Given the description of an element on the screen output the (x, y) to click on. 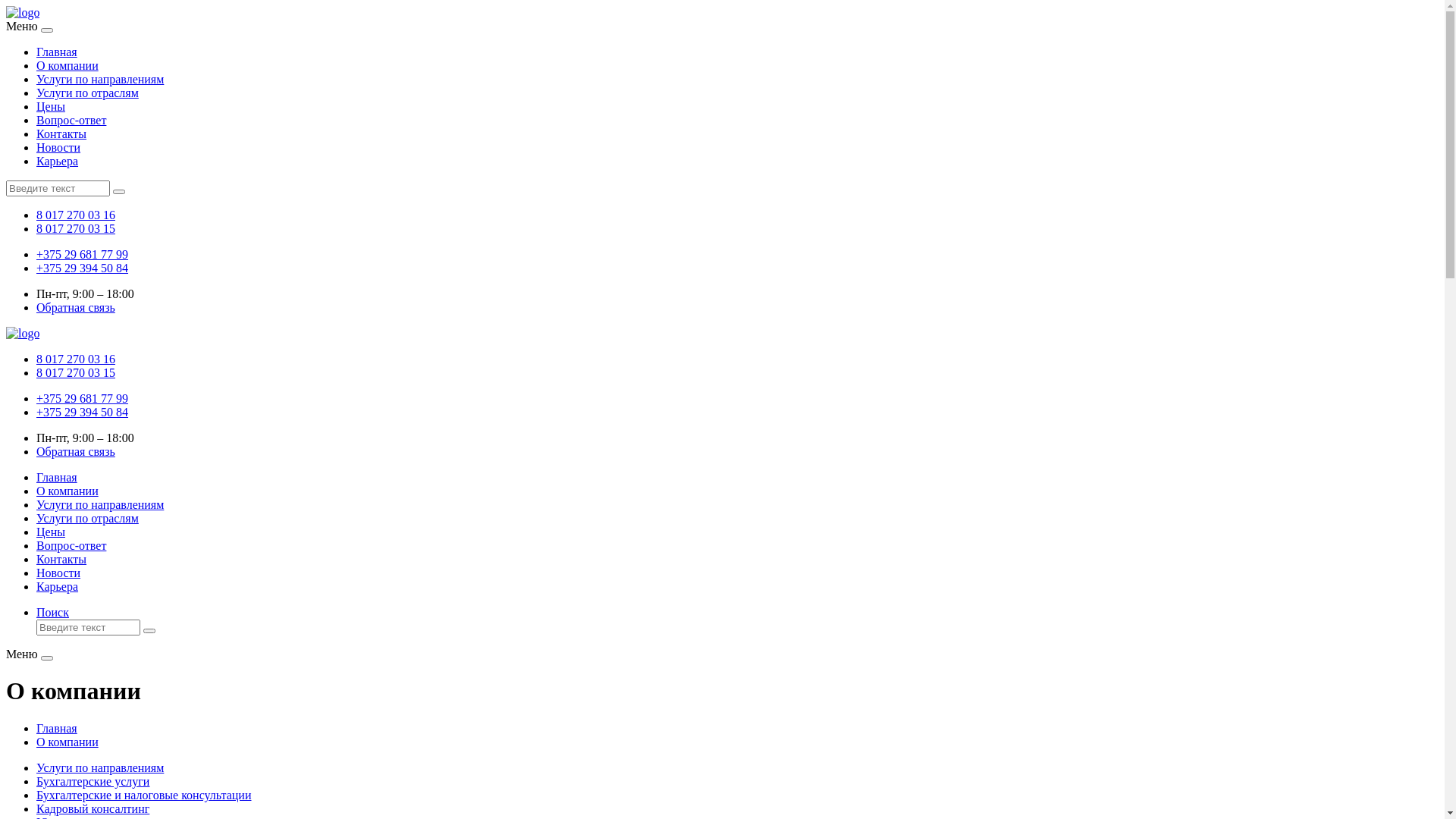
logo Element type: hover (22, 332)
8 017 270 03 16 Element type: text (75, 358)
8 017 270 03 15 Element type: text (75, 228)
logo Element type: hover (22, 12)
+375 29 681 77 99 Element type: text (82, 398)
8 017 270 03 15 Element type: text (75, 372)
+375 29 681 77 99 Element type: text (82, 253)
8 017 270 03 16 Element type: text (75, 214)
+375 29 394 50 84 Element type: text (82, 267)
+375 29 394 50 84 Element type: text (82, 411)
